Given the description of an element on the screen output the (x, y) to click on. 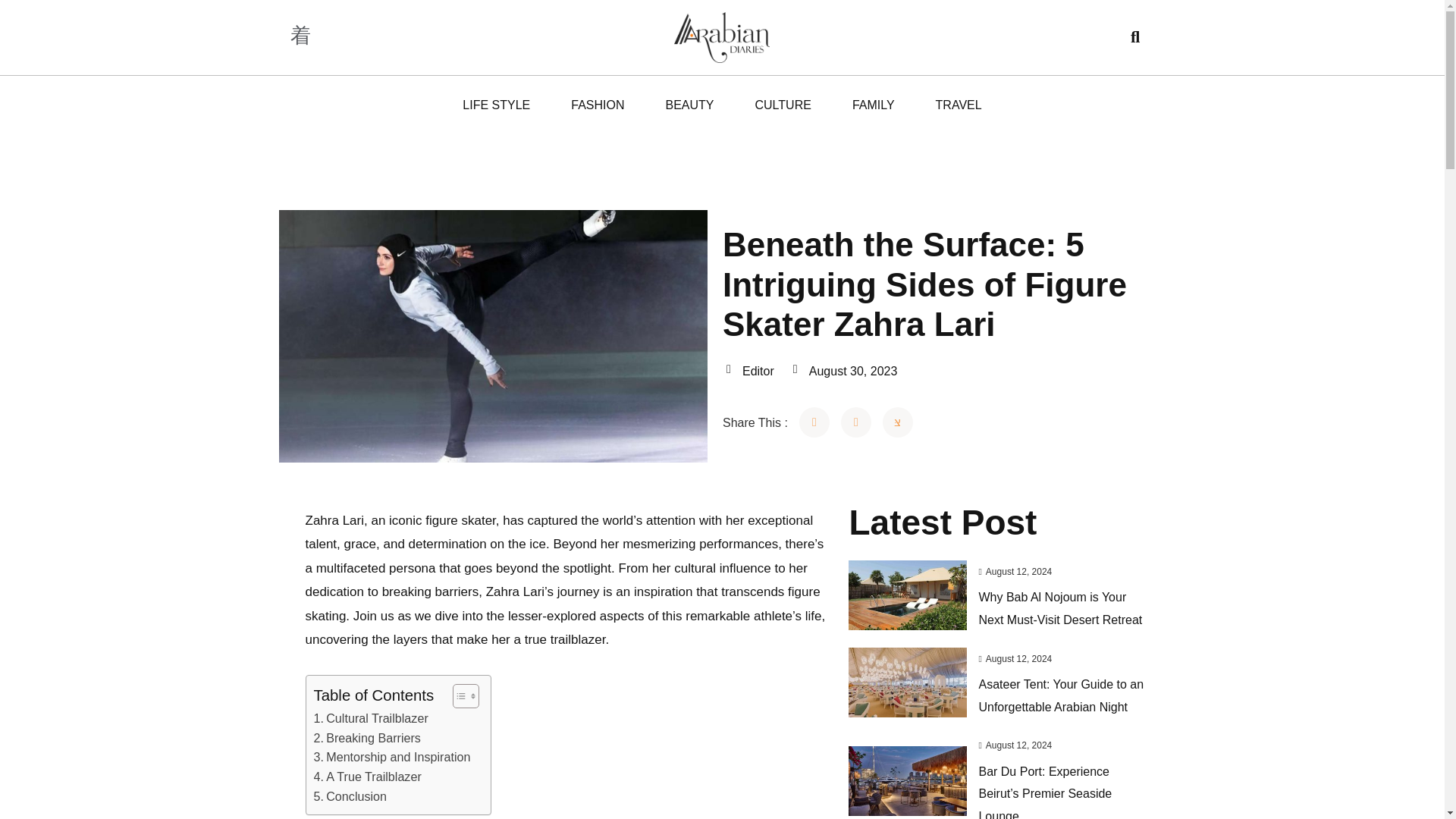
Mentorship and Inspiration (392, 757)
Breaking Barriers (367, 738)
A True Trailblazer (368, 777)
Conclusion (350, 796)
Cultural Trailblazer (371, 718)
